Given the description of an element on the screen output the (x, y) to click on. 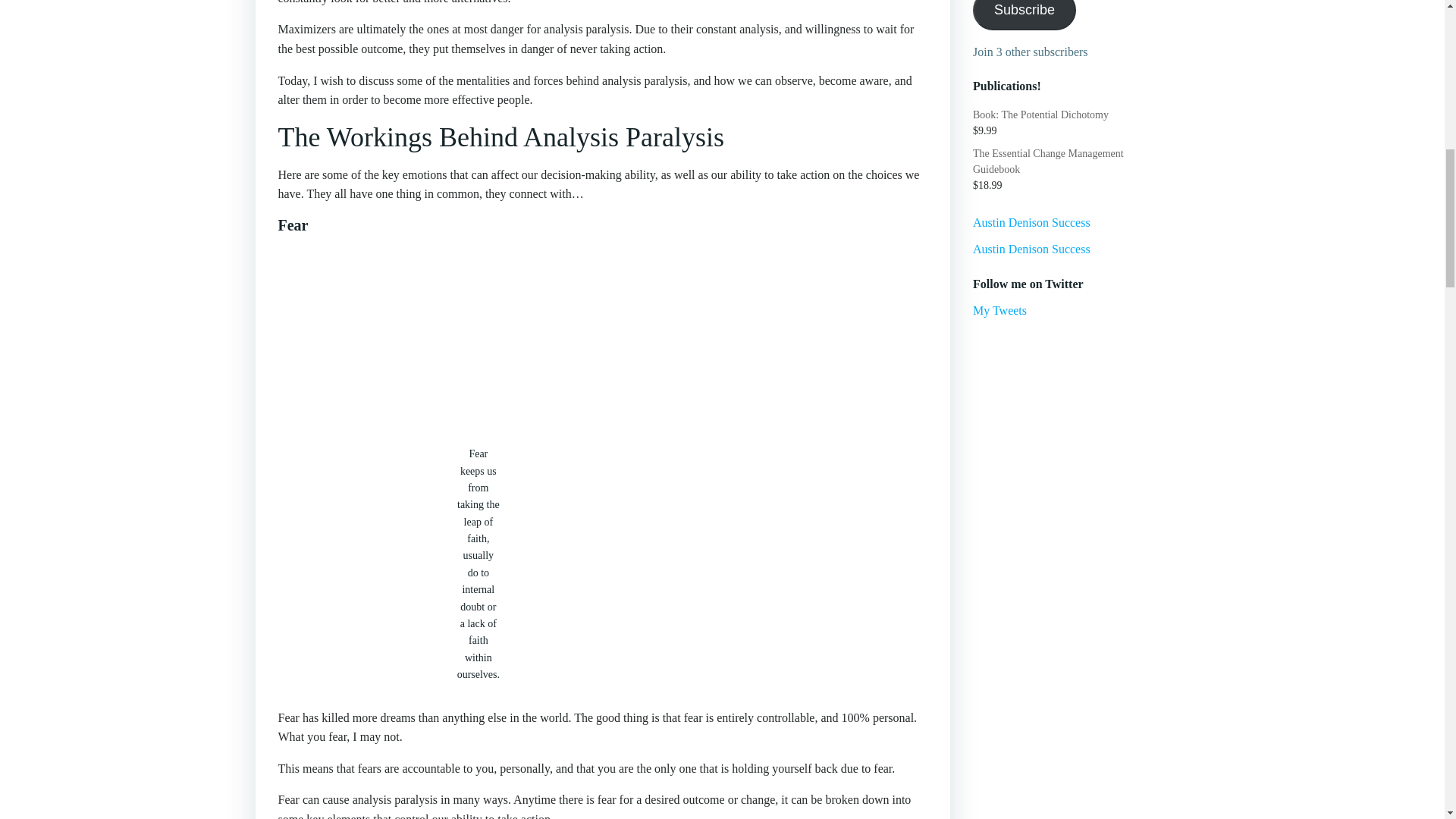
Book: The Potential Dichotomy (1080, 114)
Subscribe (1023, 15)
The Essential Change Management Guidebook (1080, 161)
